Given the description of an element on the screen output the (x, y) to click on. 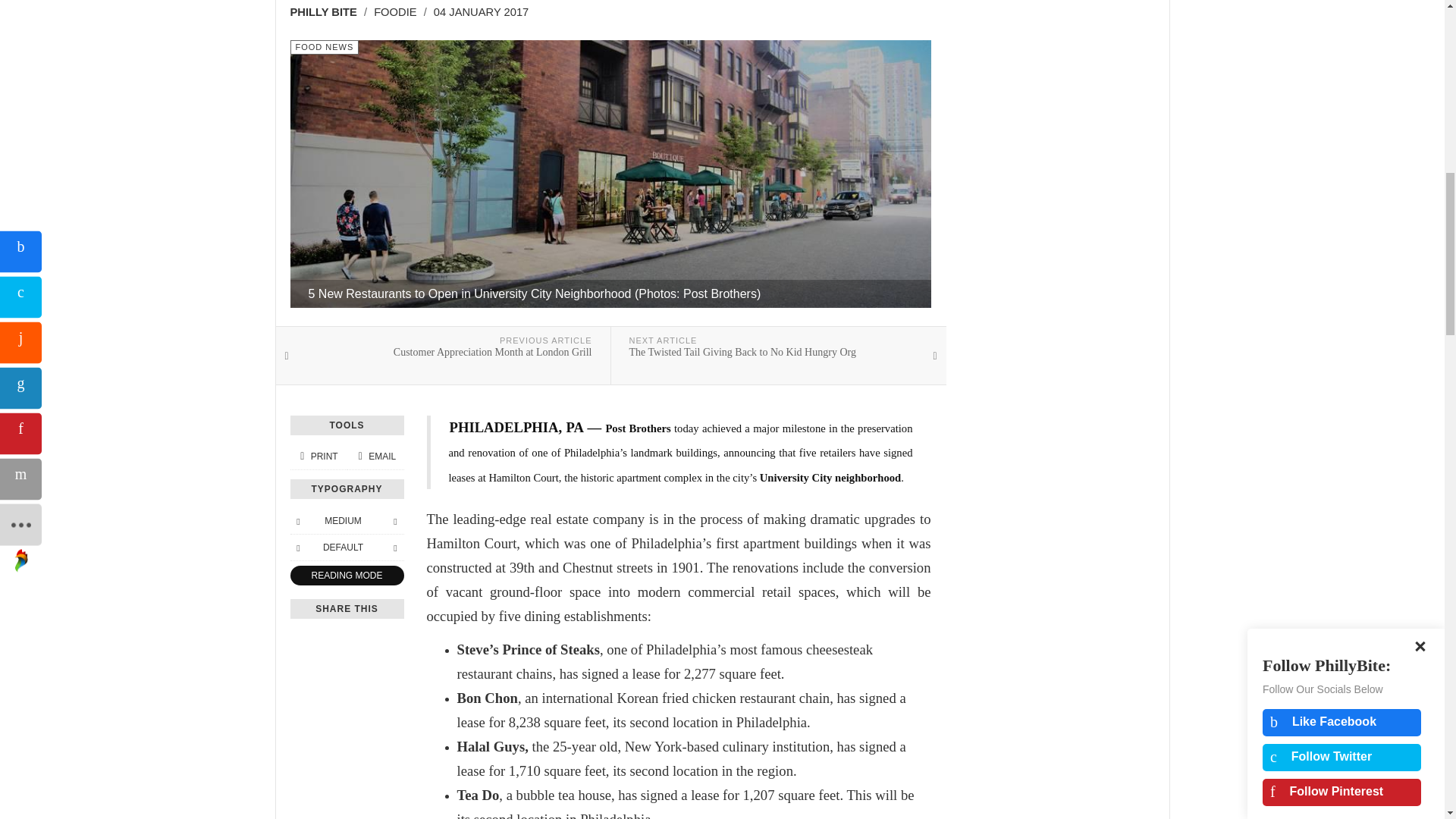
Written by  (327, 12)
Email (375, 456)
FOOD NEWS (323, 47)
FOODIE (395, 11)
Reading Mode (346, 575)
Published:  (480, 12)
Category:  (443, 355)
Next Font Style (323, 47)
Parent Category:  (395, 547)
Print (400, 12)
Bigger Font (318, 456)
Smaller Font (395, 520)
Previous Font Style (297, 520)
